Given the description of an element on the screen output the (x, y) to click on. 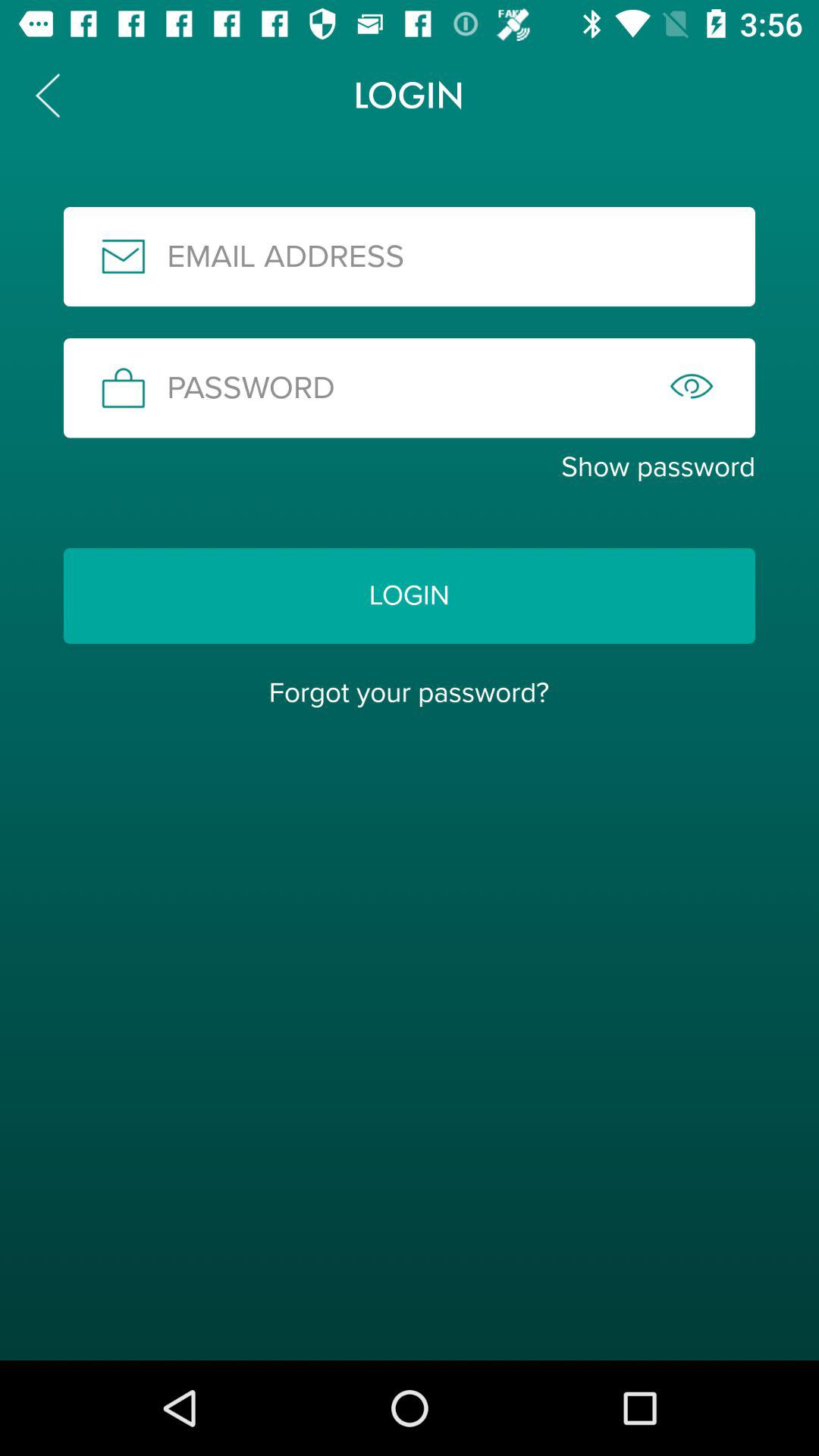
click forgot your password? (409, 692)
